Given the description of an element on the screen output the (x, y) to click on. 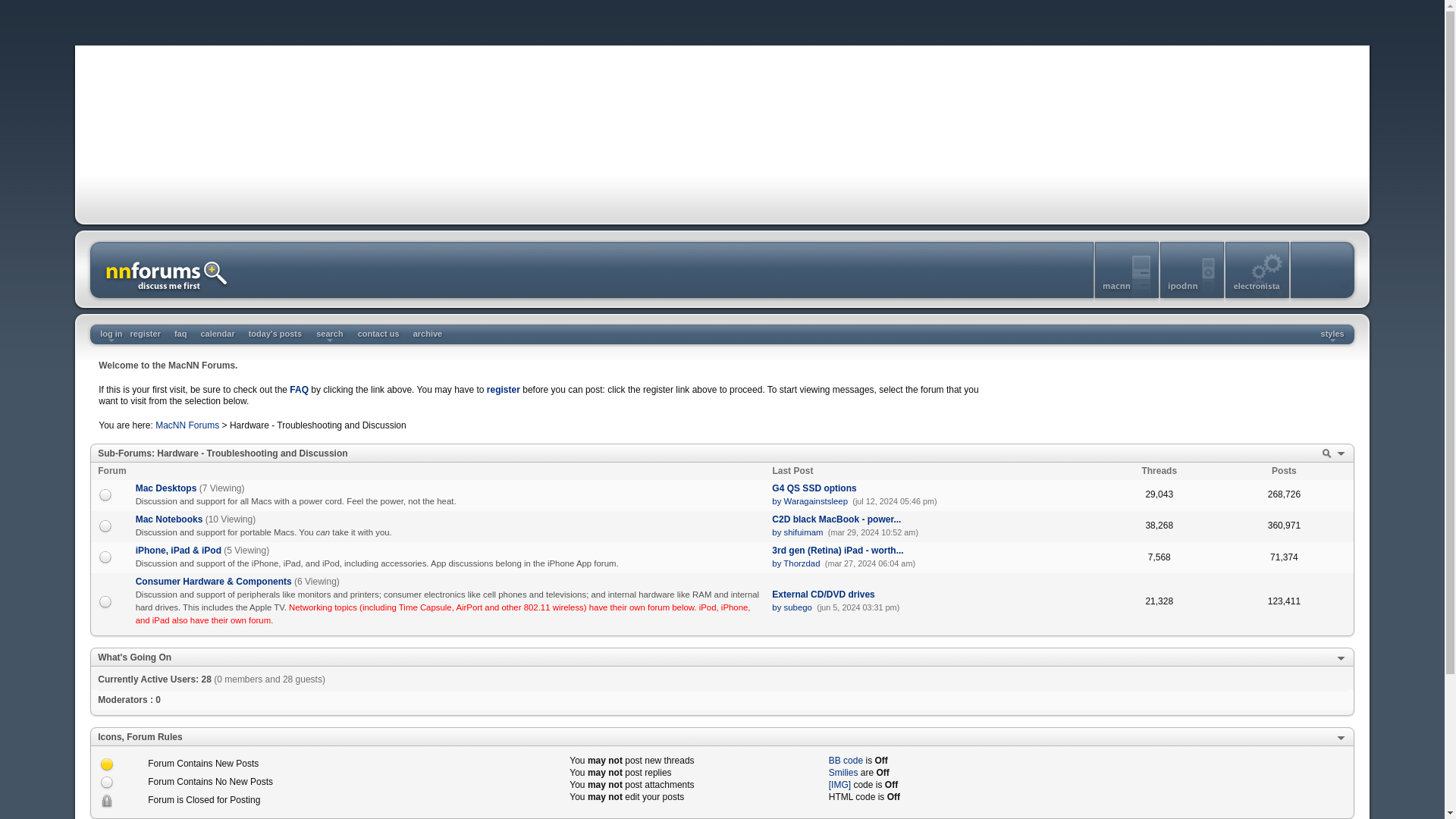
search this forum (1326, 458)
shifuimam (804, 532)
Mac Desktops (165, 488)
archive (427, 334)
Waragainstsleep (815, 501)
by (777, 532)
Contains New Posts (107, 764)
Advertisement (1168, 394)
visit ipodnn.com (1192, 299)
log in (111, 333)
